Given the description of an element on the screen output the (x, y) to click on. 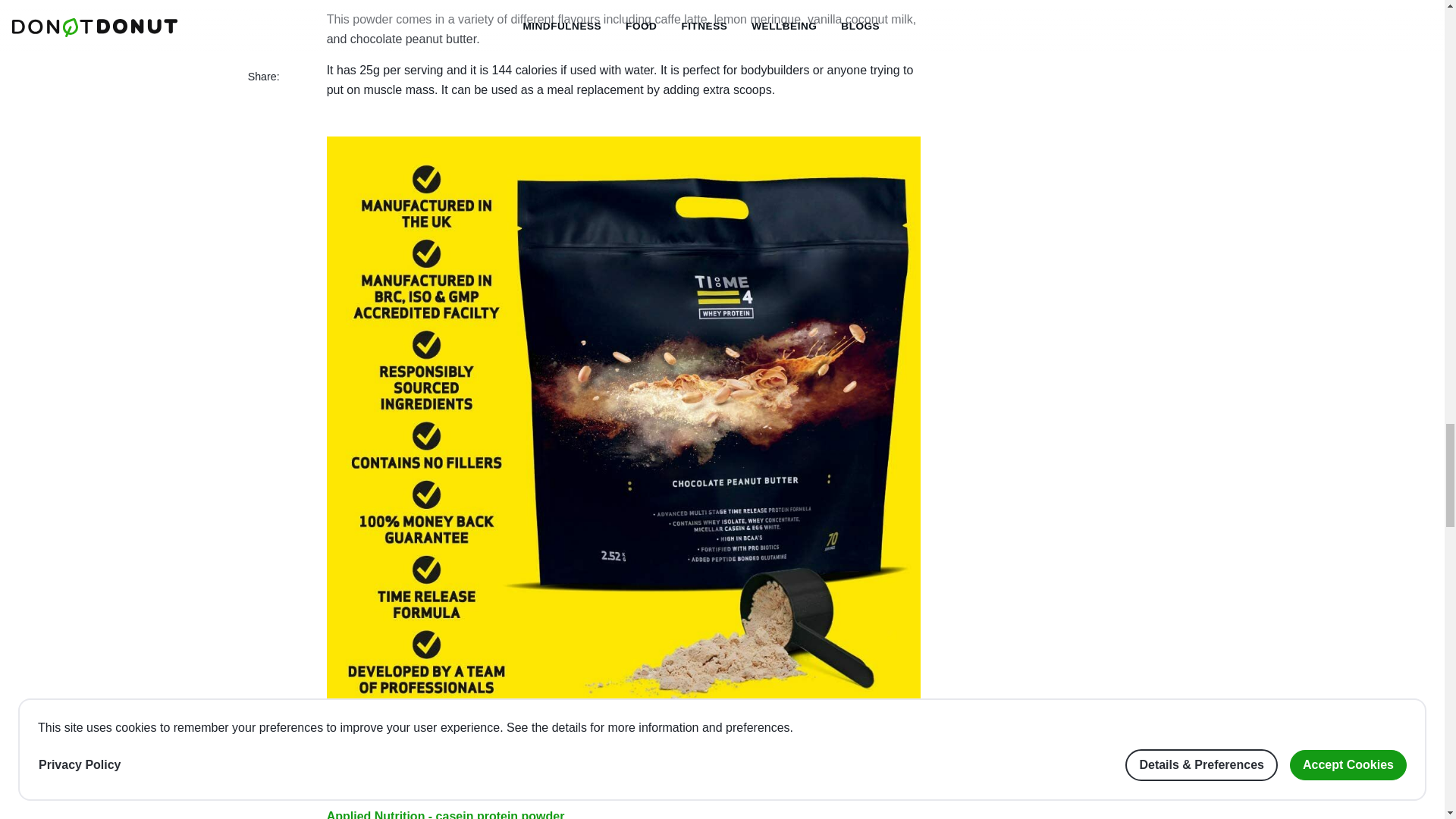
Applied Nutrition - casein protein powder (445, 814)
